Given the description of an element on the screen output the (x, y) to click on. 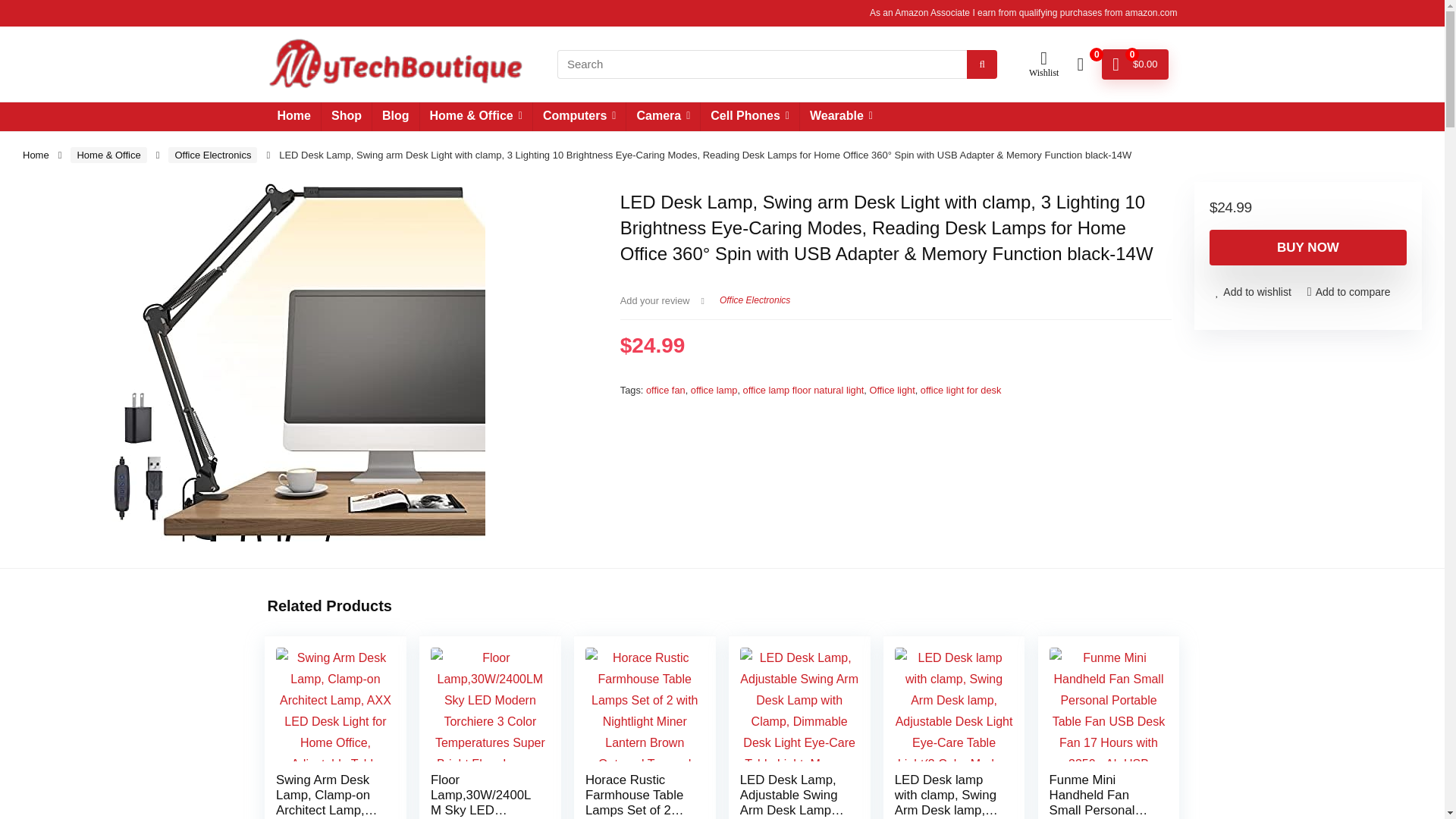
Camera (663, 116)
Add your review (655, 300)
Blog (395, 116)
Computers (579, 116)
View all posts in Office Electronics (754, 299)
Shop (346, 116)
Home (293, 116)
Home (36, 154)
Cell Phones (749, 116)
Wearable (840, 116)
